Given the description of an element on the screen output the (x, y) to click on. 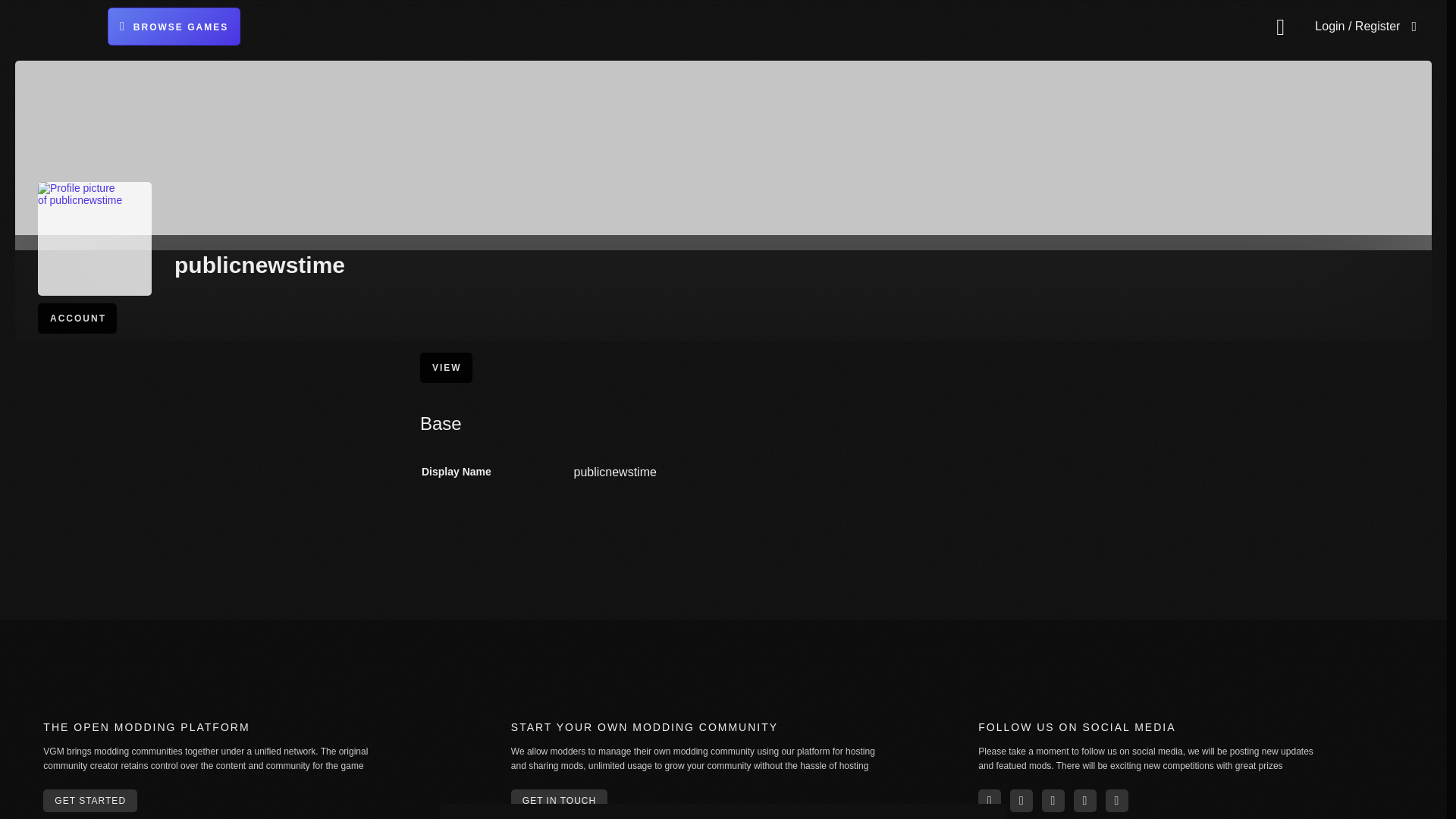
BROWSE GAMES (173, 26)
Log In (1337, 235)
